Given the description of an element on the screen output the (x, y) to click on. 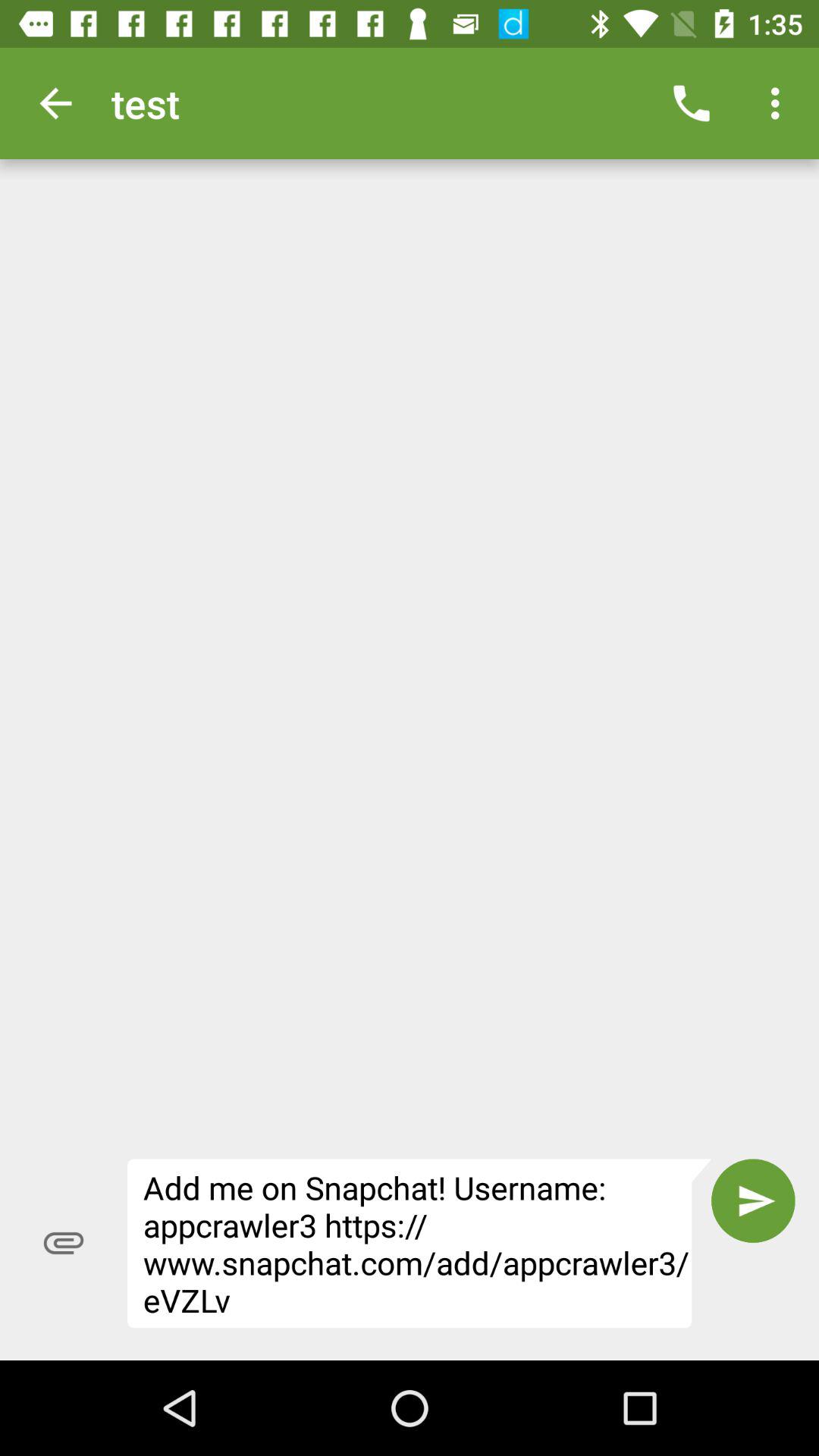
launch the item to the left of the add me on item (63, 1243)
